Given the description of an element on the screen output the (x, y) to click on. 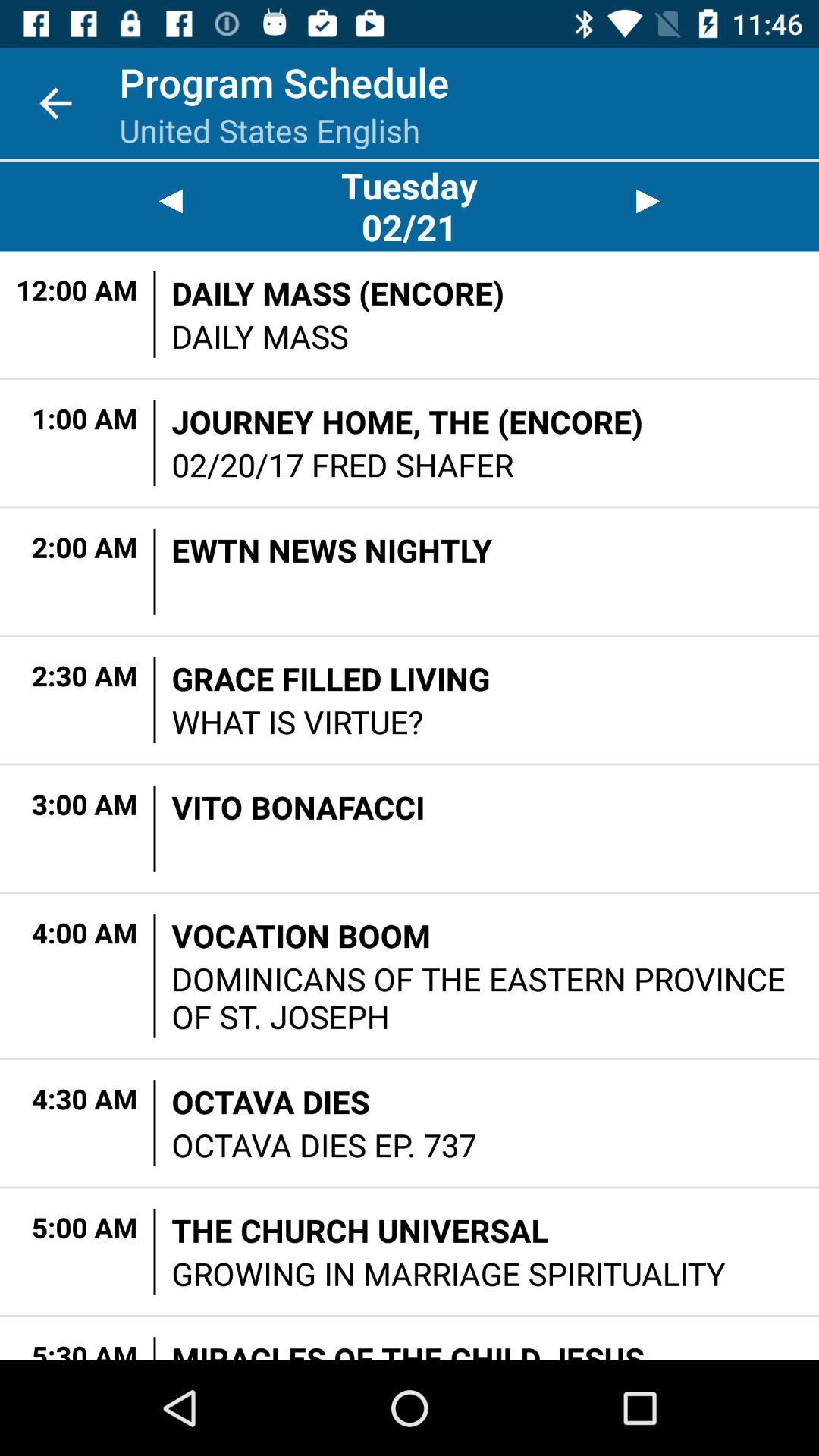
turn on the item to the left of the octava dies (154, 1123)
